Given the description of an element on the screen output the (x, y) to click on. 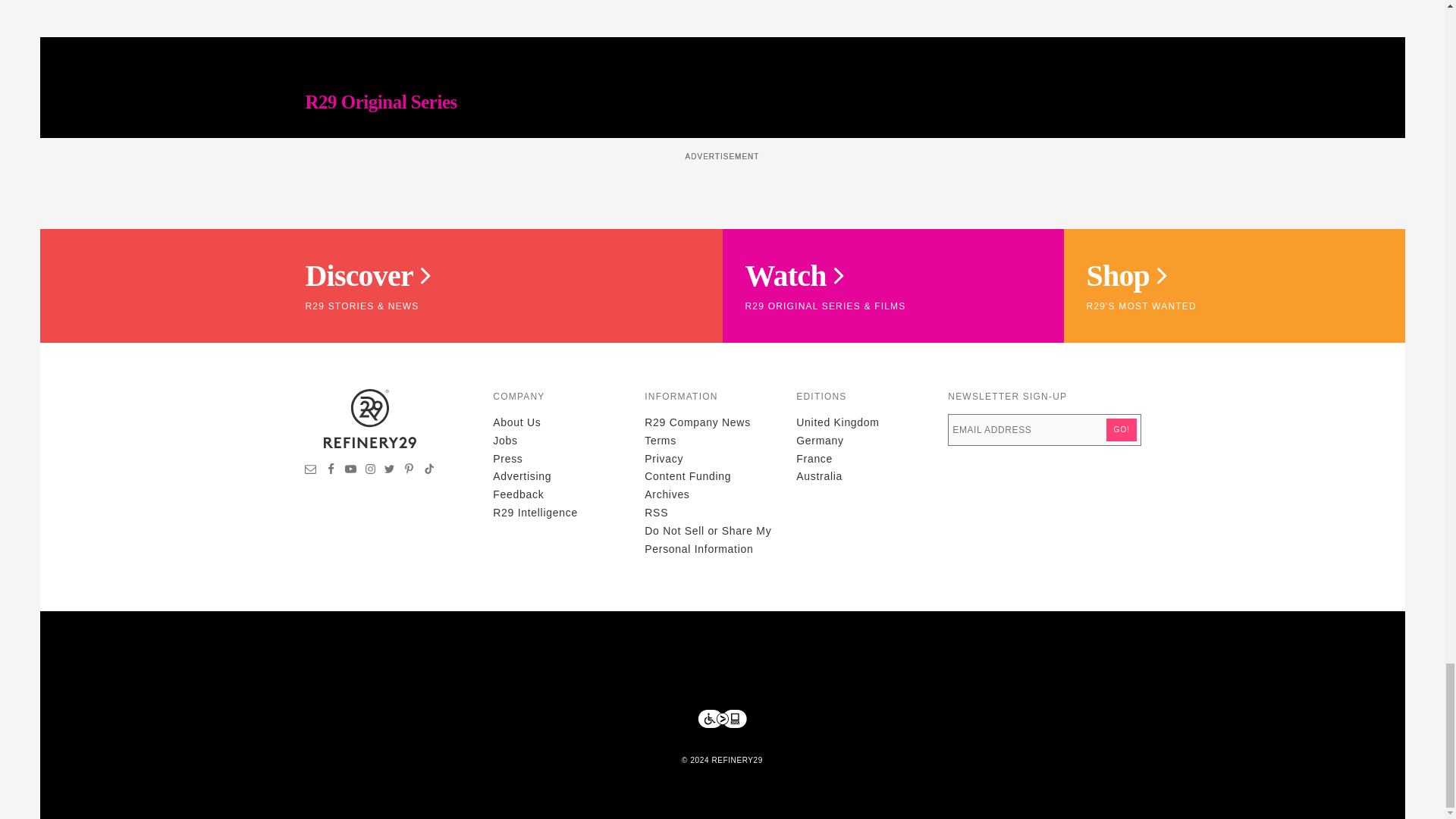
Visit Refinery29 on TikTok (428, 470)
Sign up for newsletters (310, 470)
Visit Refinery29 on YouTube (350, 470)
